Given the description of an element on the screen output the (x, y) to click on. 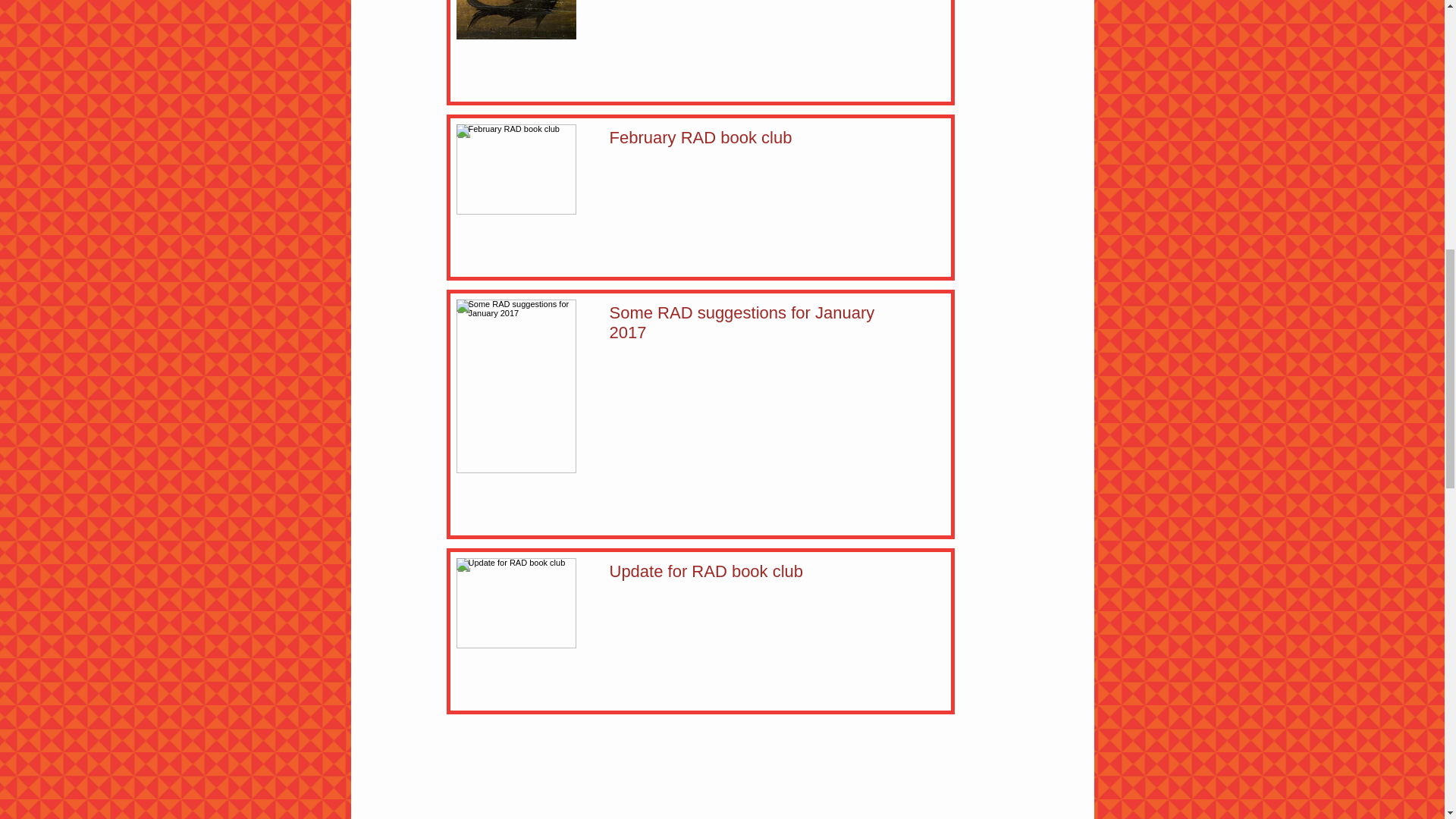
Update for RAD book club (762, 574)
Some RAD suggestions for January 2017 (762, 325)
February RAD book club (762, 140)
